Given the description of an element on the screen output the (x, y) to click on. 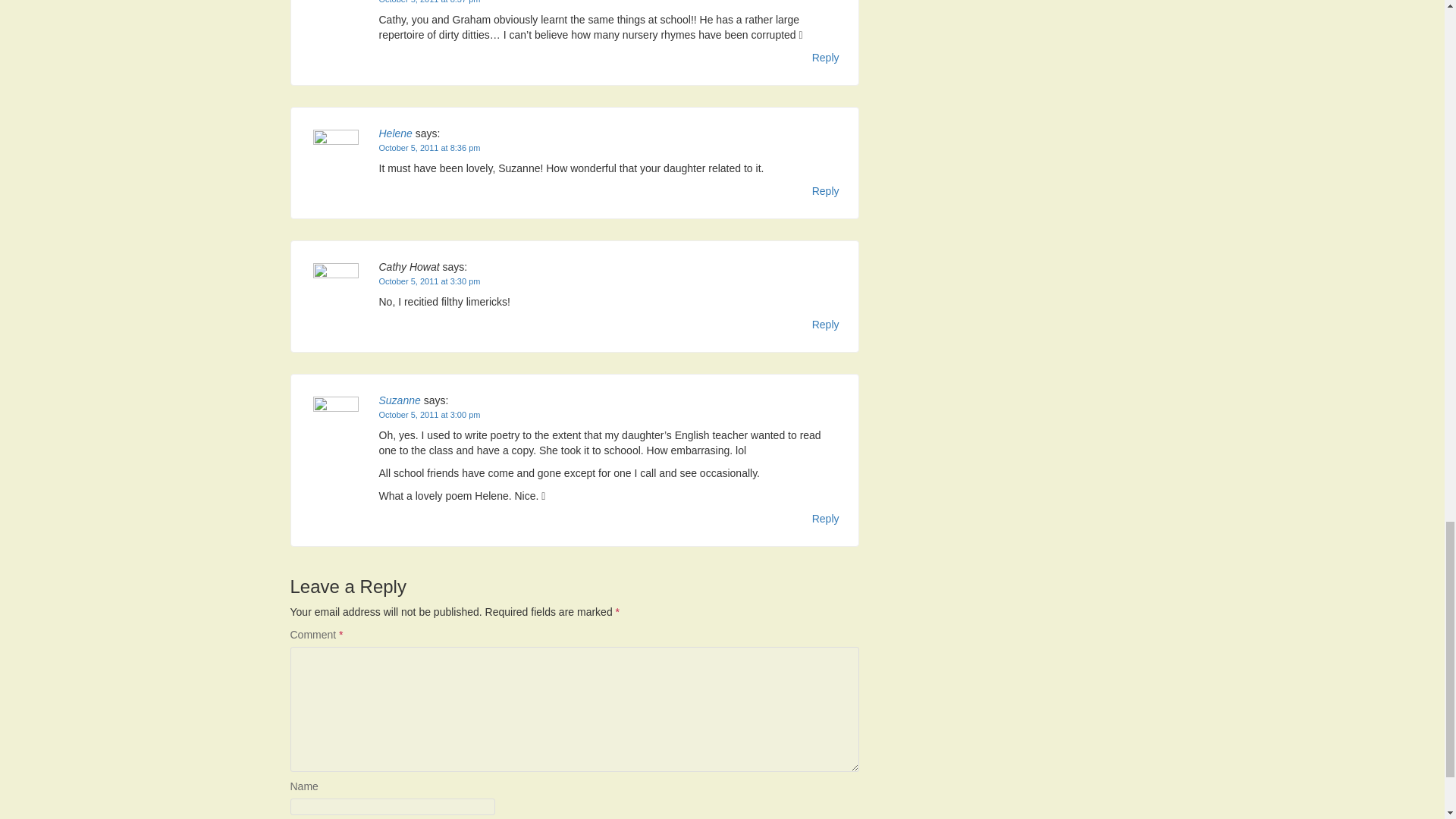
October 5, 2011 at 8:37 pm (429, 2)
